Given the description of an element on the screen output the (x, y) to click on. 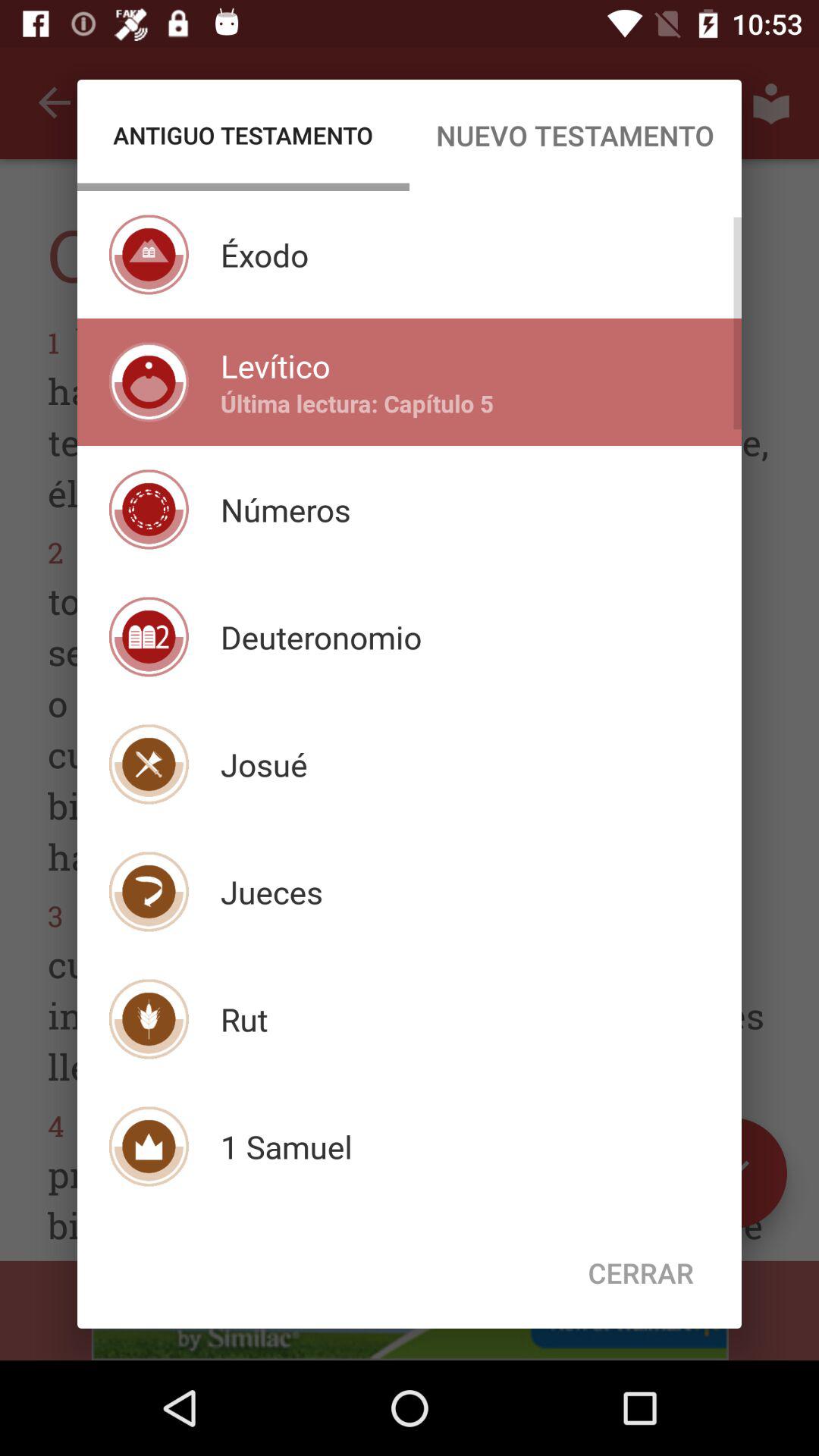
swipe to the cerrar icon (640, 1272)
